Given the description of an element on the screen output the (x, y) to click on. 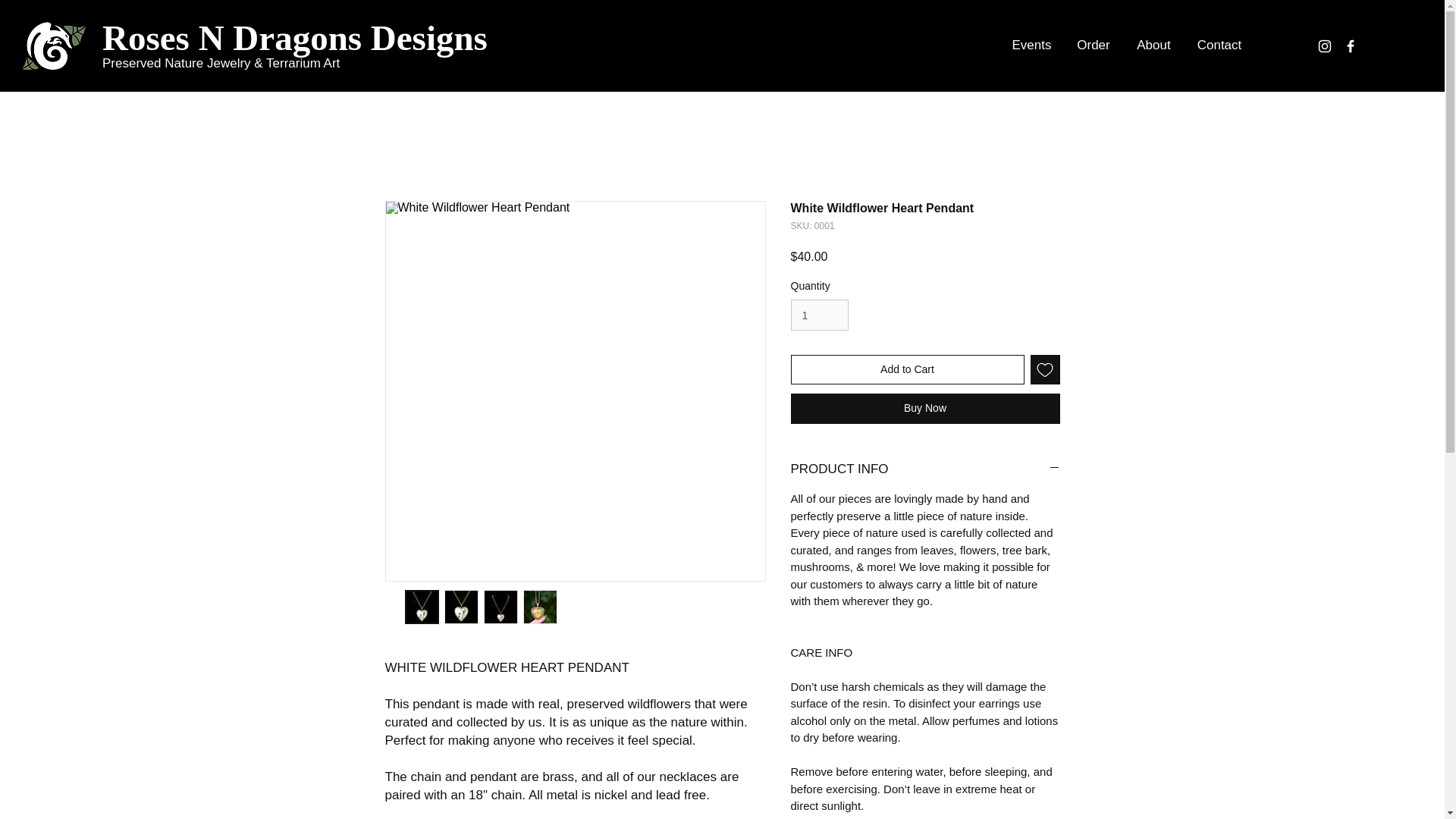
Roses N Dragons Designs (294, 38)
Add to Cart (906, 369)
Buy Now (924, 408)
PRODUCT INFO (924, 469)
About (1154, 45)
Order (1092, 45)
1 (818, 314)
Events (1030, 45)
Contact (1220, 45)
